Given the description of an element on the screen output the (x, y) to click on. 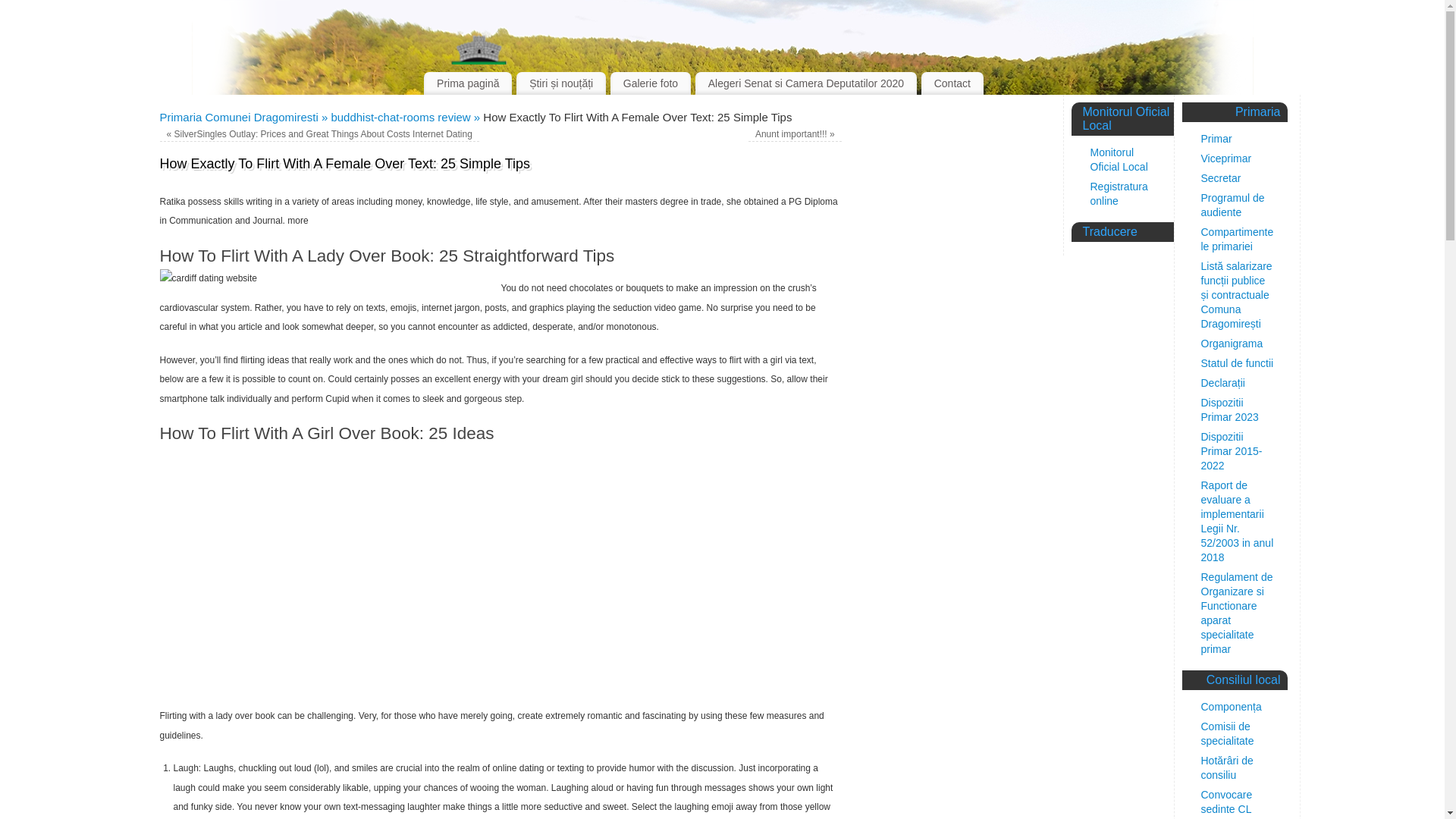
Compartimentele primariei (1237, 239)
Secretar (1221, 177)
Primar (1216, 138)
Galerie foto (650, 83)
Viceprimar (1226, 158)
Programul de audiente (1233, 204)
Alegeri Senat si Camera Deputatilor 2020 (806, 83)
Contact (952, 83)
